Given the description of an element on the screen output the (x, y) to click on. 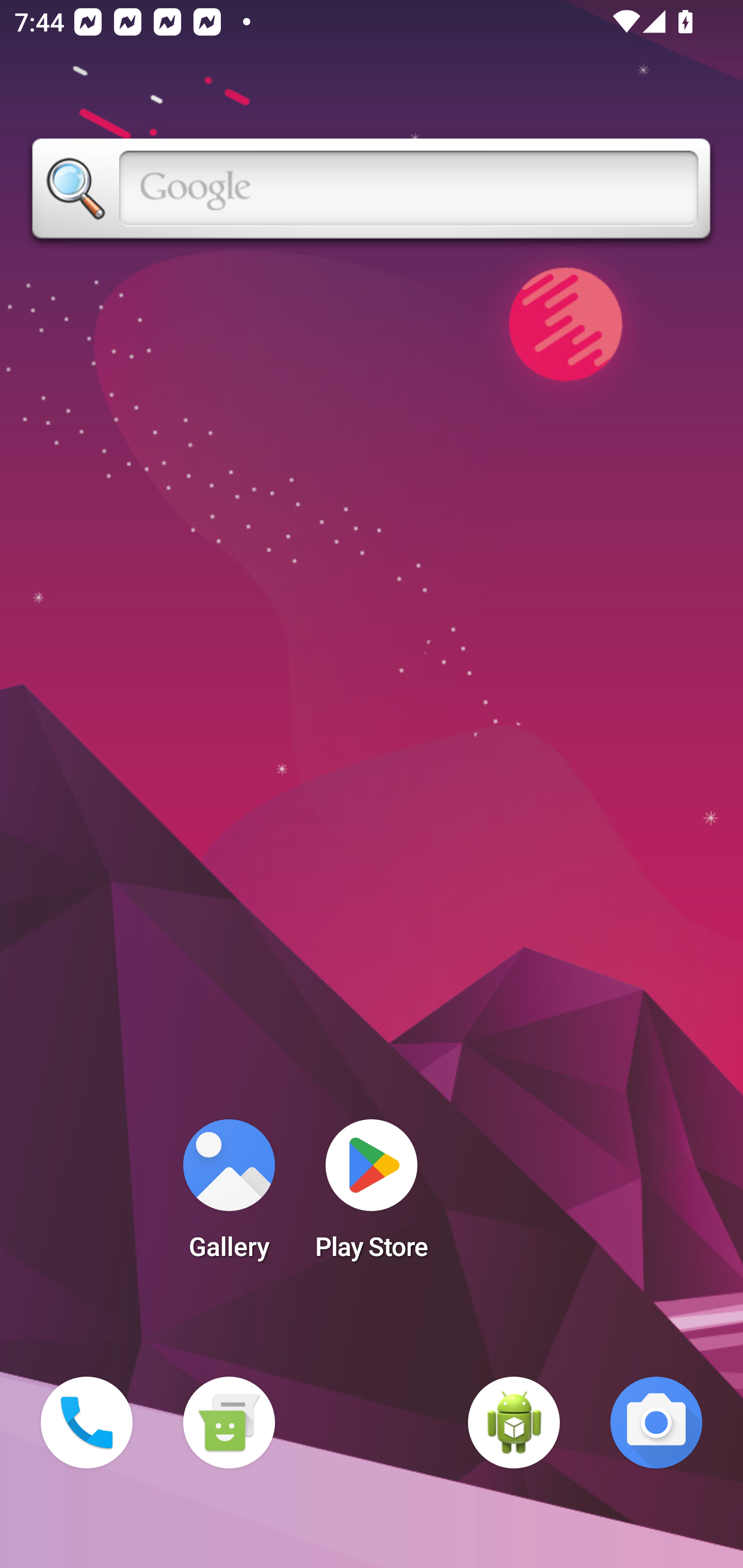
Gallery (228, 1195)
Play Store (371, 1195)
Phone (86, 1422)
Messaging (228, 1422)
WebView Browser Tester (513, 1422)
Camera (656, 1422)
